Given the description of an element on the screen output the (x, y) to click on. 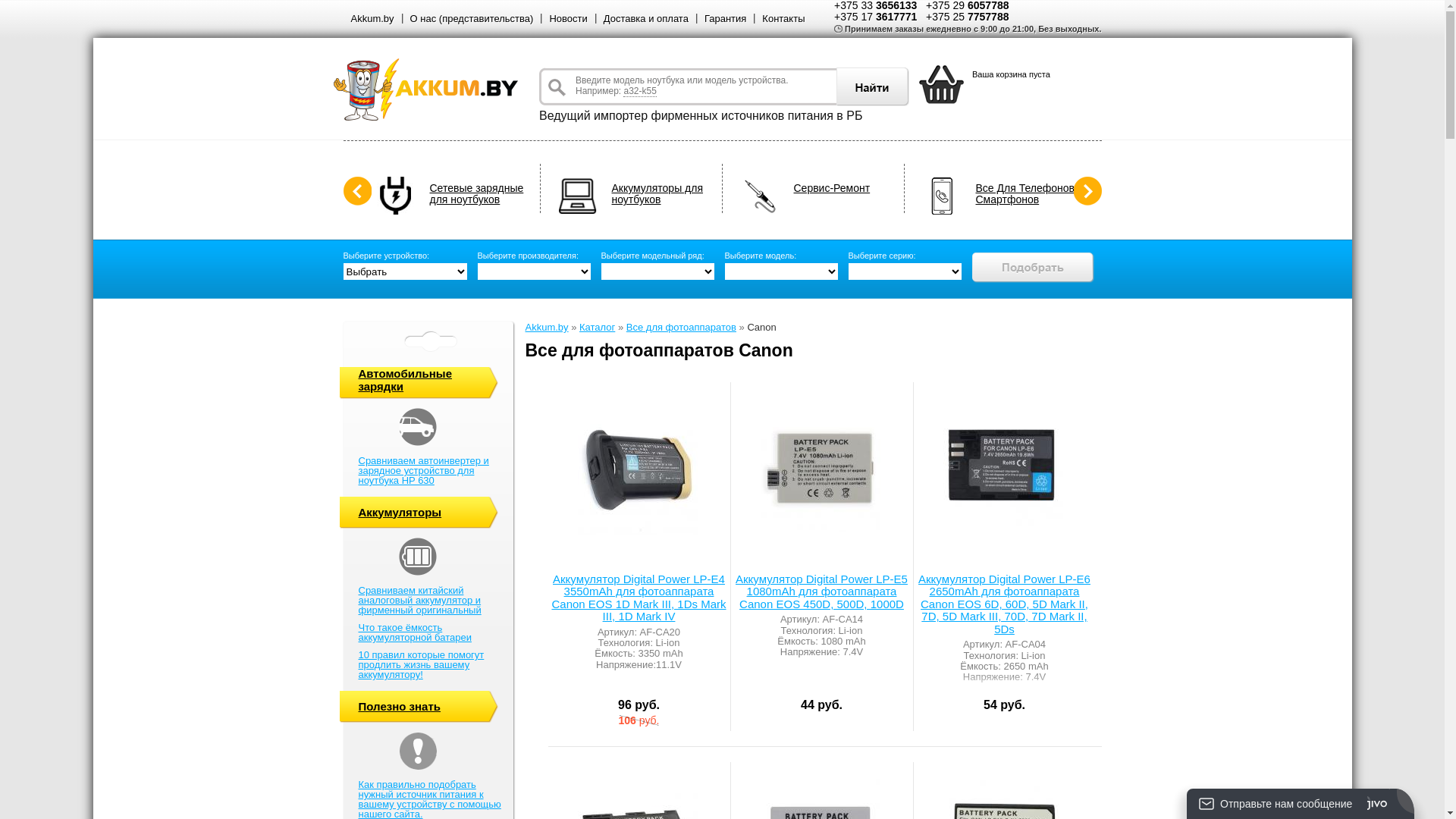
Akkum.by Element type: text (371, 18)
a32-k55 Element type: text (639, 91)
Akkum.by Element type: text (545, 326)
